Given the description of an element on the screen output the (x, y) to click on. 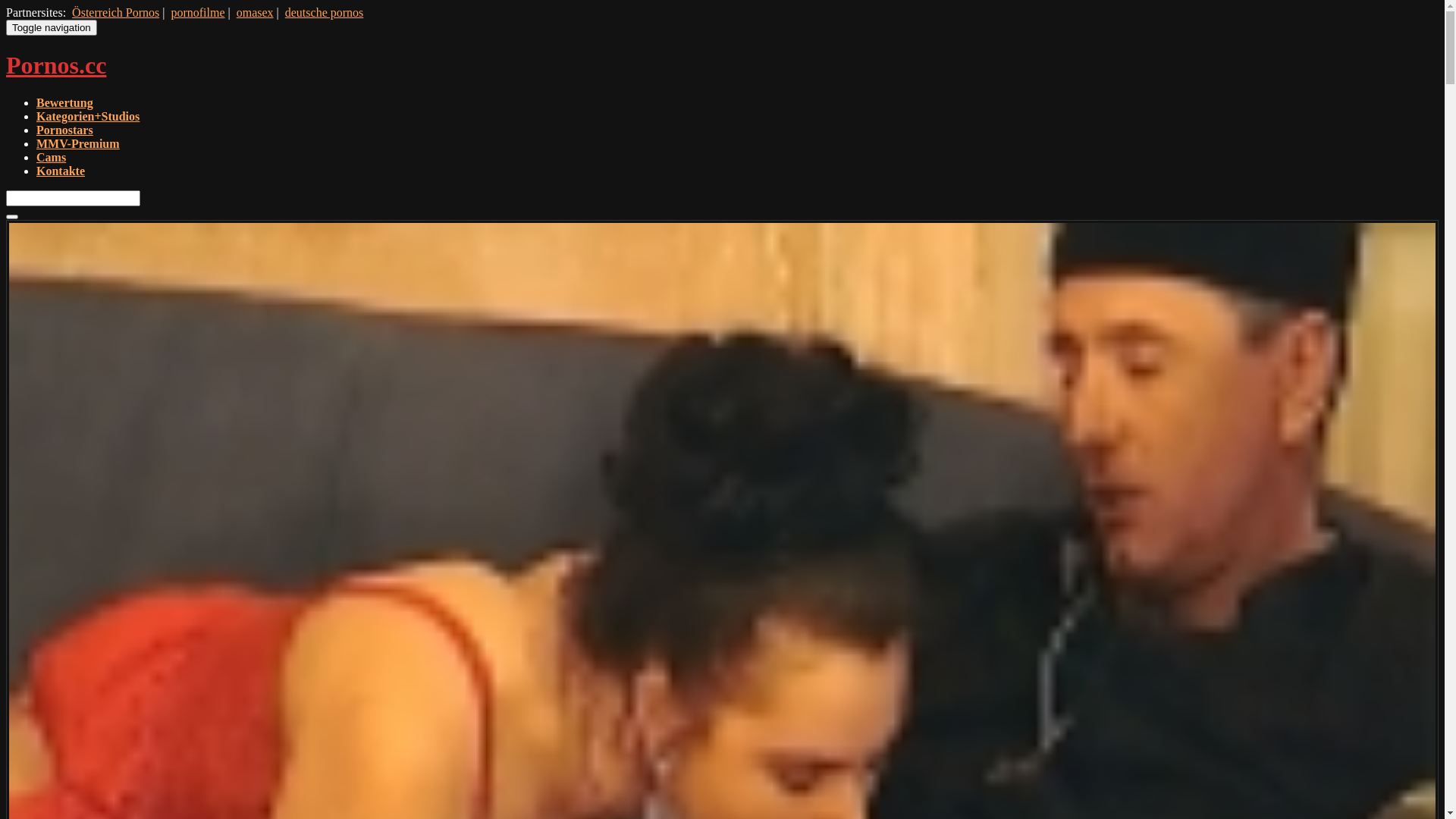
Cams Element type: text (50, 156)
Pornos.cc Element type: text (56, 64)
pornofilme Element type: text (197, 12)
Toggle navigation Element type: text (51, 27)
Kategorien+Studios Element type: text (87, 115)
deutsche pornos Element type: text (324, 12)
Bewertung Element type: text (64, 102)
omasex Element type: text (254, 12)
Kontakte Element type: text (60, 170)
Pornostars Element type: text (64, 129)
MMV-Premium Element type: text (77, 143)
